Given the description of an element on the screen output the (x, y) to click on. 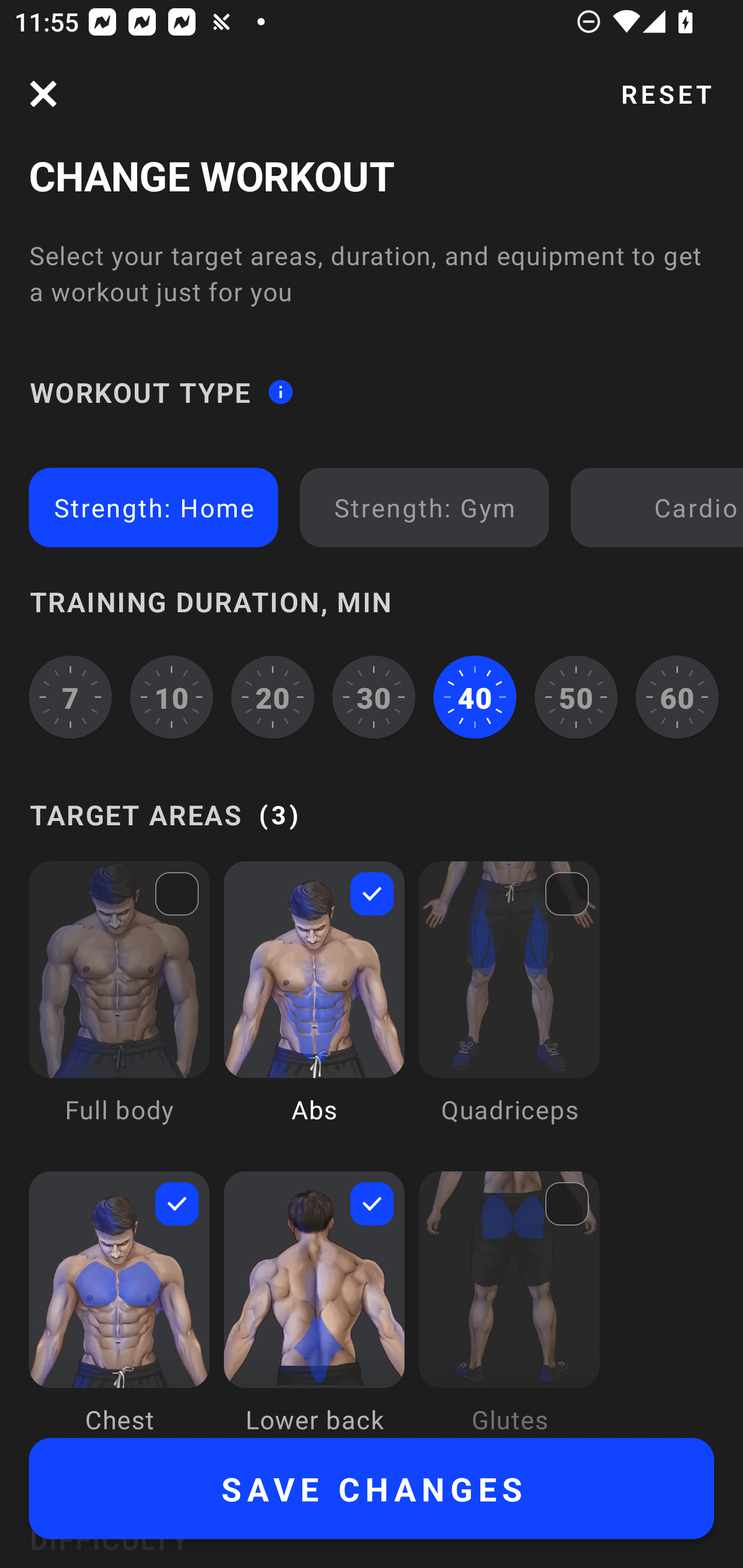
Navigation icon (43, 93)
RESET (666, 93)
Workout type information button (280, 391)
Strength: Gym (423, 507)
Cardio (660, 507)
7 (70, 696)
10 (171, 696)
20 (272, 696)
30 (373, 696)
40 (474, 696)
50 (575, 696)
60 (676, 696)
Full body (118, 1007)
Quadriceps (509, 1007)
Glutes (509, 1304)
SAVE CHANGES (371, 1488)
